Given the description of an element on the screen output the (x, y) to click on. 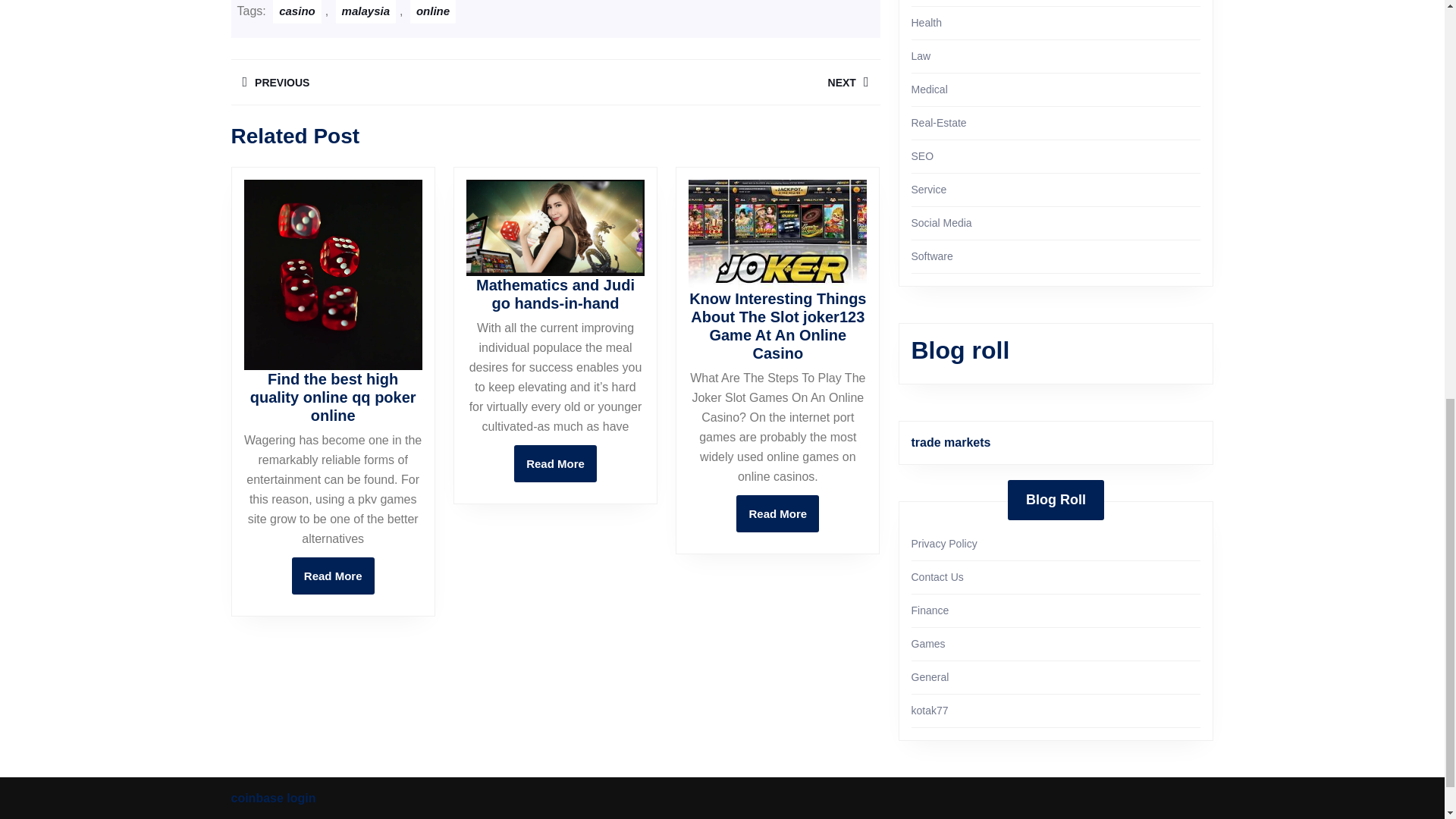
Health (926, 22)
online (432, 11)
malaysia (366, 11)
casino (777, 513)
